Given the description of an element on the screen output the (x, y) to click on. 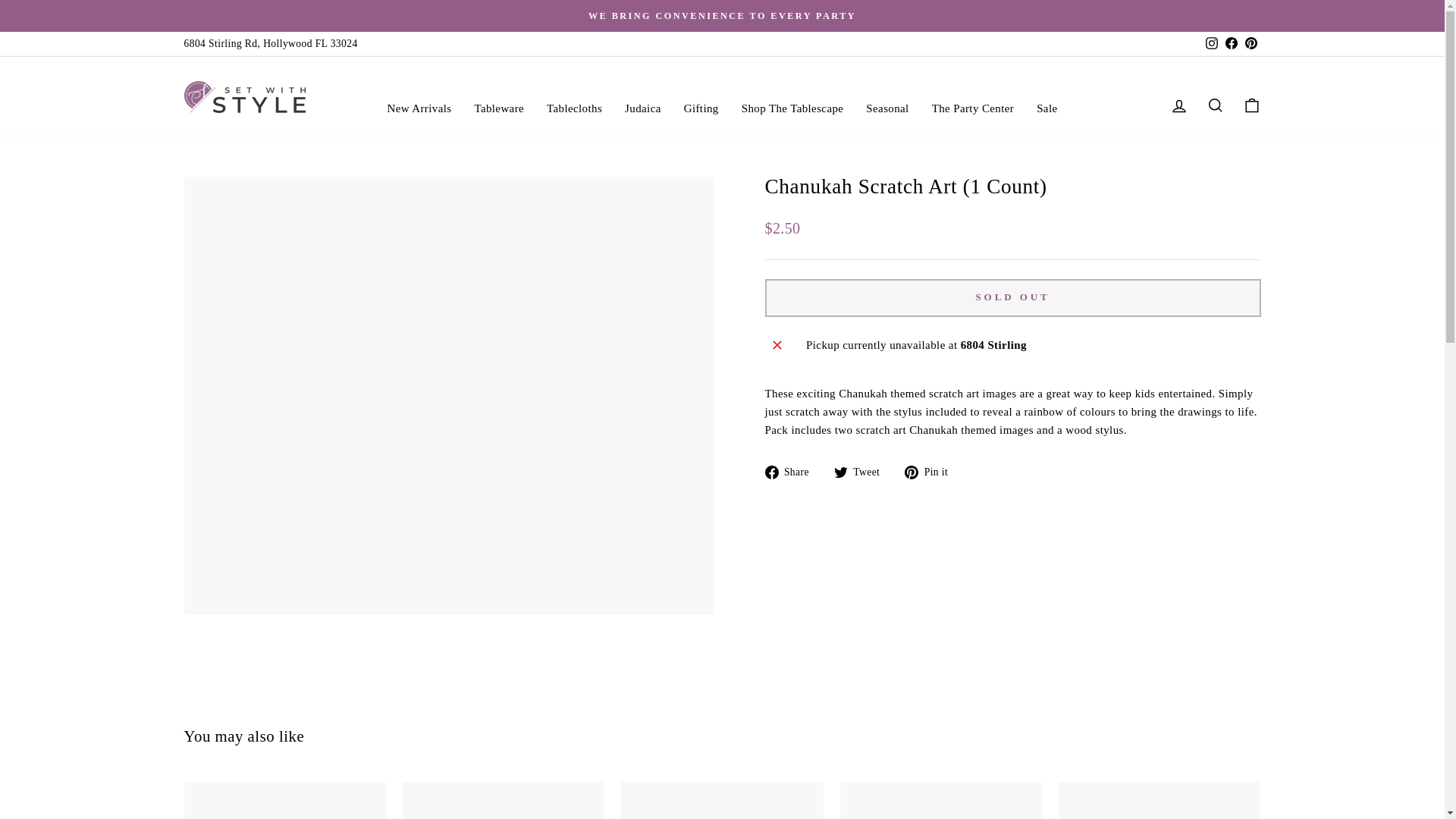
Tweet on Twitter (862, 471)
Share on Facebook (791, 471)
Pin on Pinterest (931, 471)
